Given the description of an element on the screen output the (x, y) to click on. 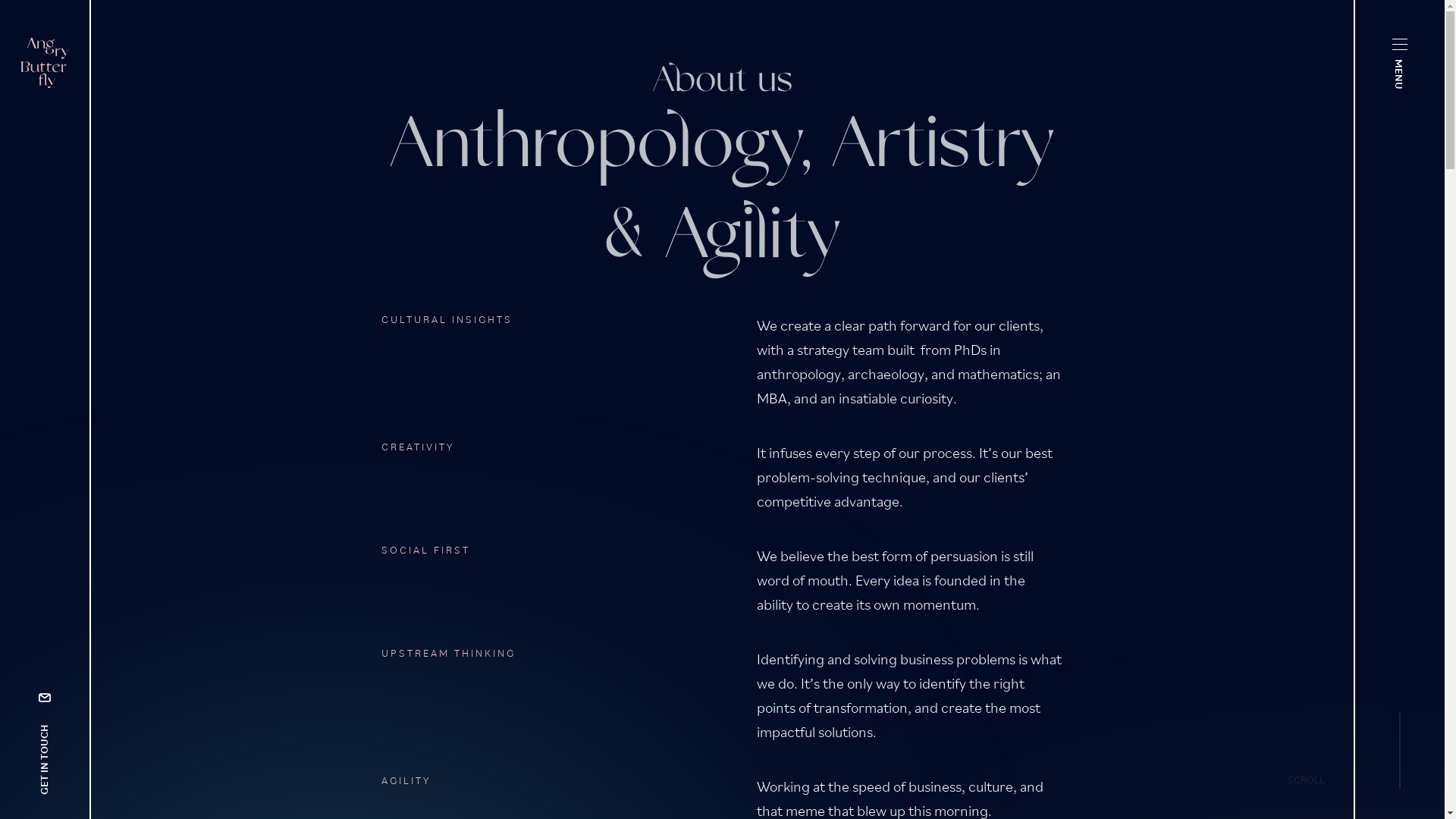
Submit Element type: text (915, 408)
